Given the description of an element on the screen output the (x, y) to click on. 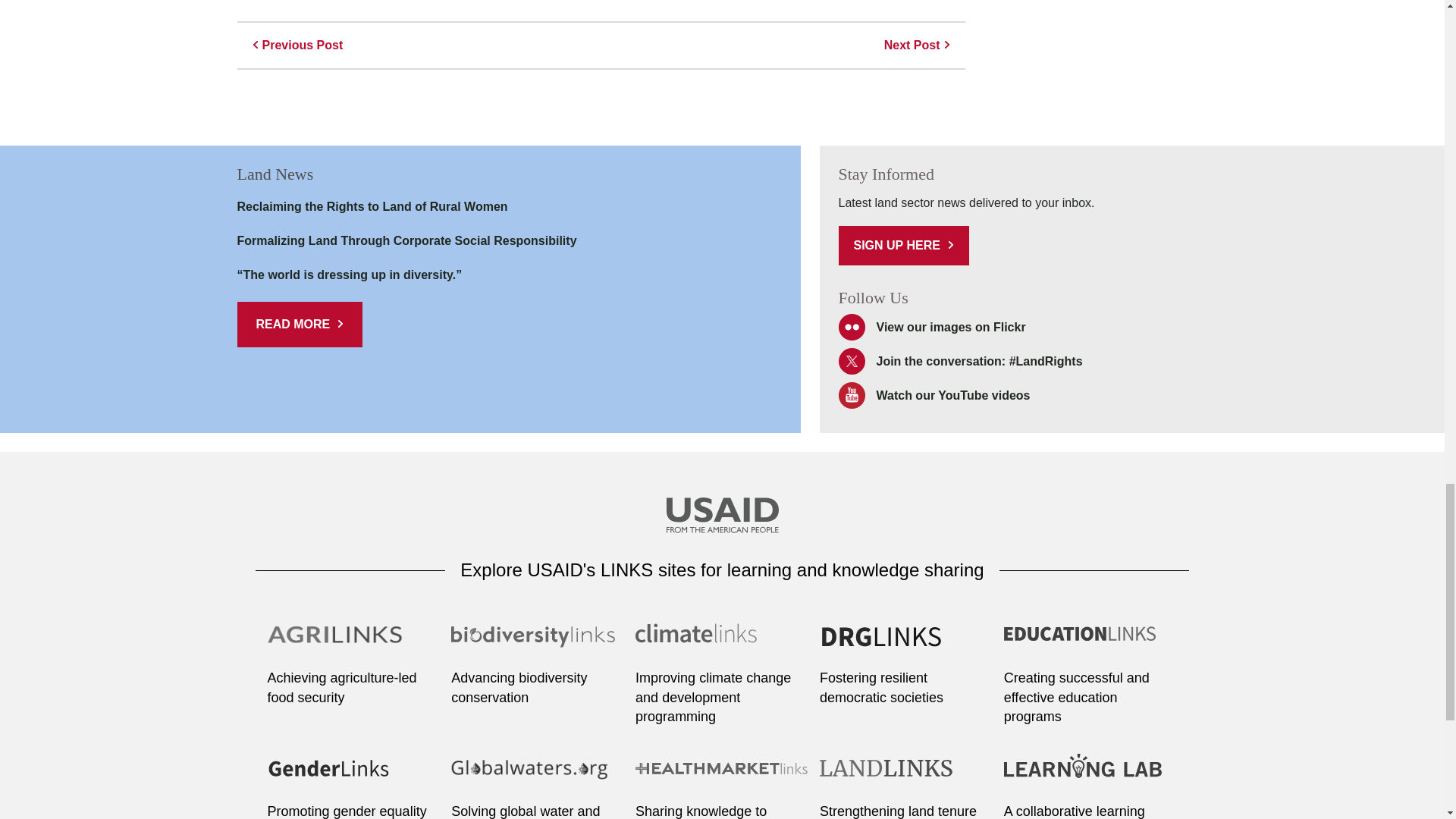
Go to Agrilinks (353, 643)
Go to Biodiversitylinks (537, 643)
Go to Healthmarket Links (721, 777)
Go to Genderlinks (353, 777)
Go to USAID (721, 517)
Go to LearningLab (1090, 777)
Go to Globalwaters (537, 777)
Go to Landlinks (905, 777)
Go to Climatelinks (721, 643)
Go to Educationlinks (1090, 643)
Go to DRG (905, 643)
